Given the description of an element on the screen output the (x, y) to click on. 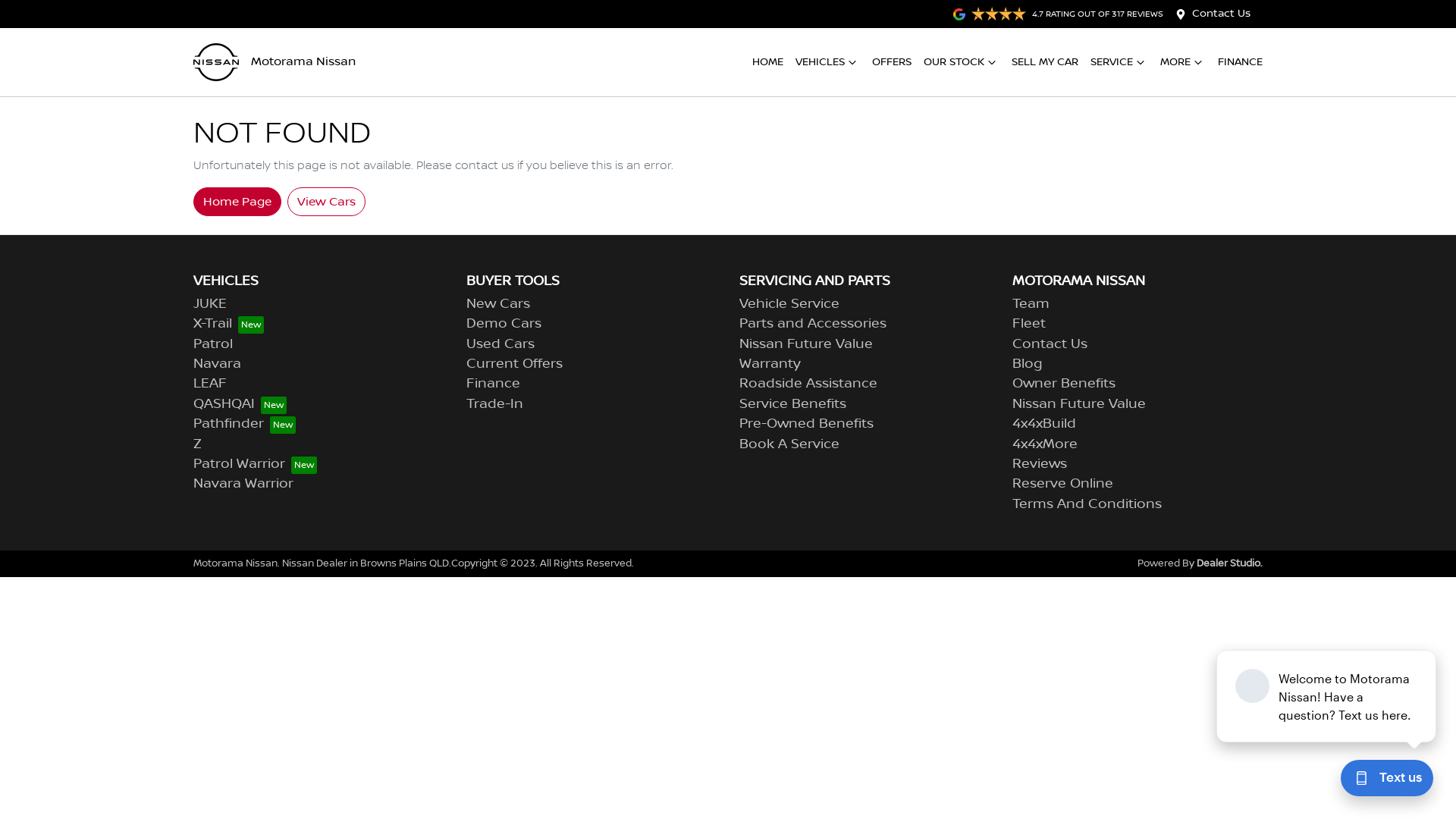
Reserve Online Element type: text (1062, 483)
Home Page Element type: text (237, 200)
Vehicle Service Element type: text (789, 303)
Finance Element type: text (493, 383)
Nissan Future Value Element type: text (1078, 403)
Nissan Future Value Element type: text (805, 343)
QASHQAI Element type: text (239, 403)
Book A Service Element type: text (789, 444)
OFFERS Element type: text (891, 62)
HOME Element type: text (767, 62)
Contact Us Element type: text (1221, 13)
Pathfinder Element type: text (244, 423)
SERVICE Element type: text (1119, 62)
Navara Element type: text (217, 363)
X-Trail Element type: text (228, 323)
Motorama Nissan Element type: text (274, 62)
Owner Benefits Element type: text (1063, 383)
Z Element type: text (197, 444)
Dealer Studio. Element type: text (1229, 563)
View Cars Element type: text (326, 200)
Fleet Element type: text (1028, 323)
Demo Cars Element type: text (503, 323)
Team Element type: text (1030, 303)
Blog Element type: text (1027, 363)
MORE Element type: text (1182, 62)
SELL MY CAR Element type: text (1044, 62)
New Cars Element type: text (498, 303)
Roadside Assistance Element type: text (808, 383)
FINANCE Element type: text (1239, 62)
Pre-Owned Benefits Element type: text (806, 423)
Navara Warrior Element type: text (243, 483)
4x4xMore Element type: text (1044, 444)
Contact Us Element type: text (1049, 343)
JUKE Element type: text (209, 303)
Service Benefits Element type: text (792, 403)
Current Offers Element type: text (514, 363)
Parts and Accessories Element type: text (812, 323)
Trade-In Element type: text (494, 403)
Patrol Element type: text (212, 343)
Used Cars Element type: text (500, 343)
LEAF Element type: text (209, 383)
Warranty Element type: text (769, 363)
Reviews Element type: text (1039, 463)
Terms And Conditions Element type: text (1086, 503)
OUR STOCK Element type: text (961, 62)
VEHICLES Element type: text (827, 62)
4x4xBuild Element type: text (1044, 423)
Patrol Warrior Element type: text (254, 463)
